Given the description of an element on the screen output the (x, y) to click on. 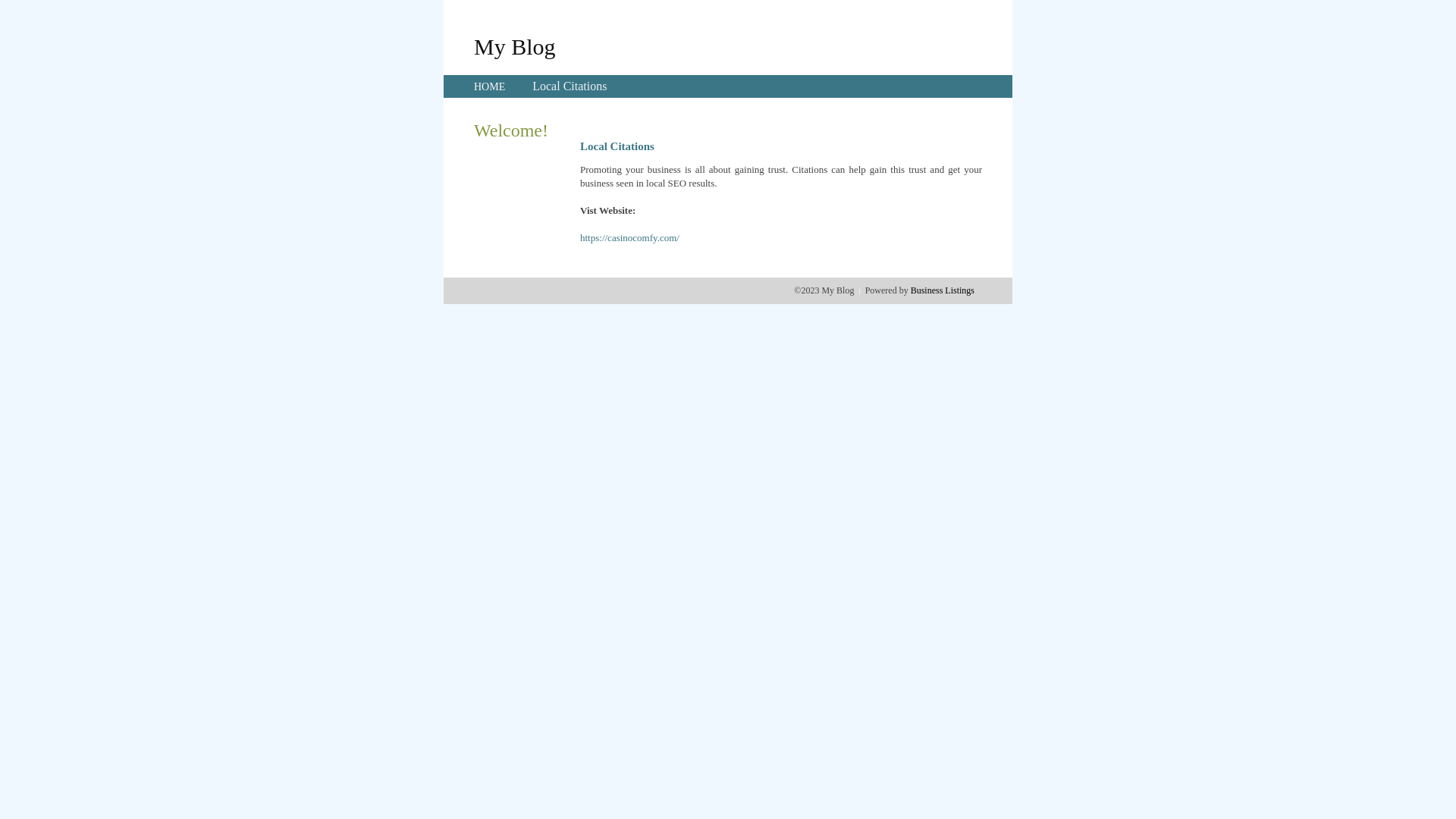
Local Citations Element type: text (569, 85)
Business Listings Element type: text (942, 290)
My Blog Element type: text (514, 46)
https://casinocomfy.com/ Element type: text (629, 237)
HOME Element type: text (489, 86)
